Given the description of an element on the screen output the (x, y) to click on. 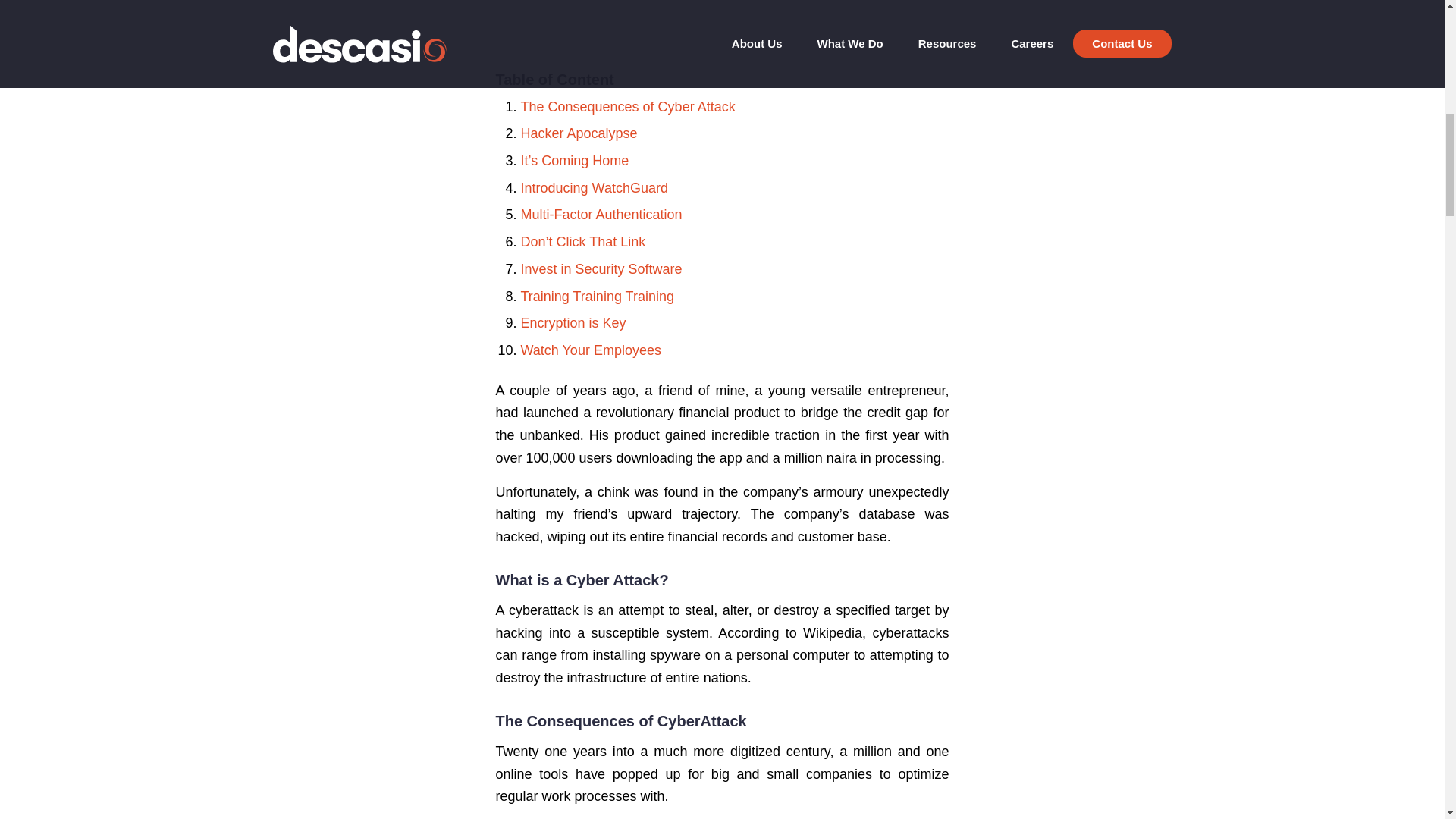
The Consequences of Cyber Attack (627, 106)
Training Training Training (595, 296)
Watch Your Employees (590, 350)
Invest in Security Software (600, 268)
Hacker Apocalypse (578, 133)
Encryption is Key (572, 322)
Introducing WatchGuard (592, 187)
Multi-Factor Authentication (600, 214)
